Given the description of an element on the screen output the (x, y) to click on. 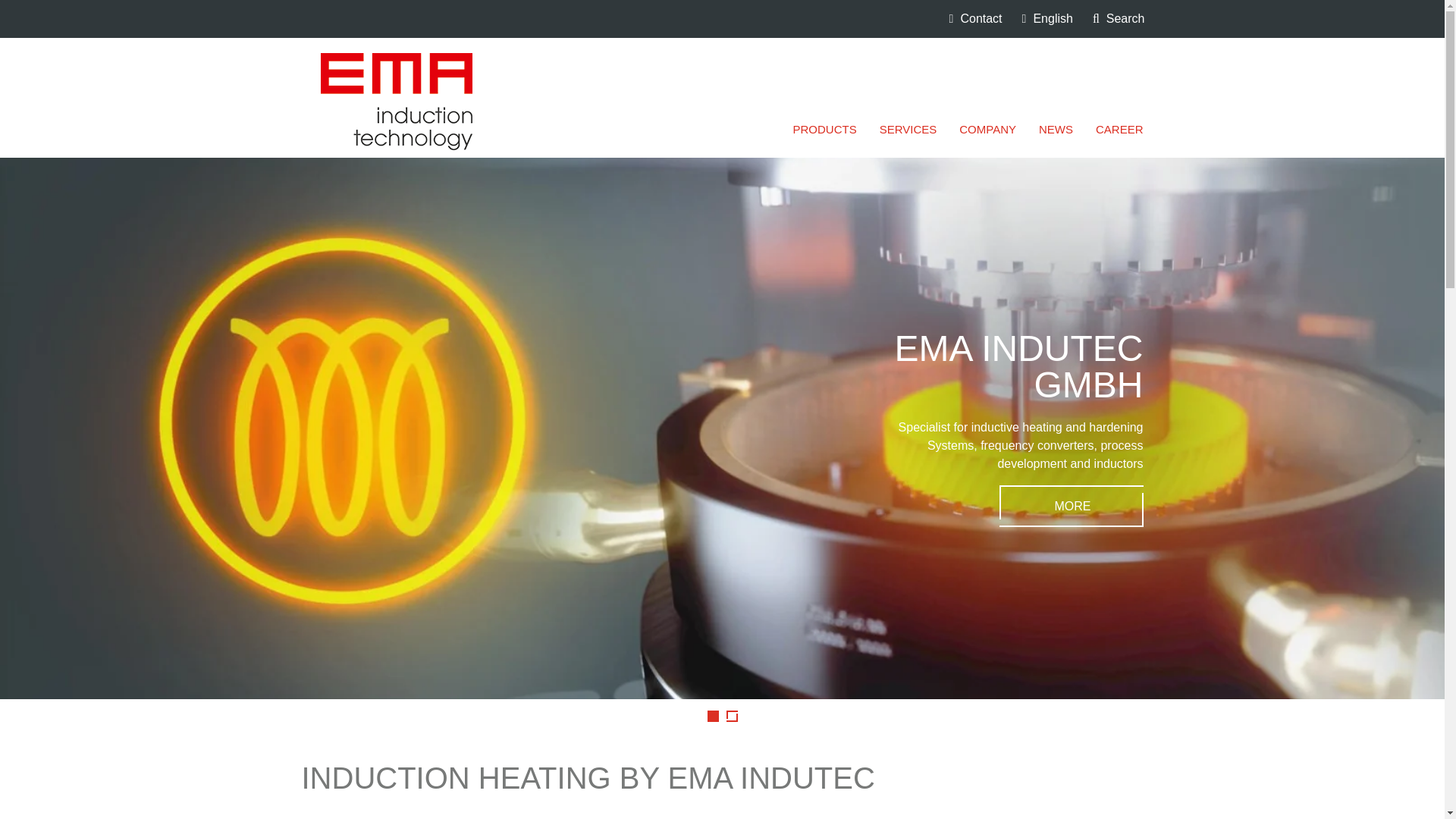
PRODUCTS (823, 129)
Contact (975, 18)
English (1047, 18)
SERVICES (908, 129)
Search (1118, 18)
